Given the description of an element on the screen output the (x, y) to click on. 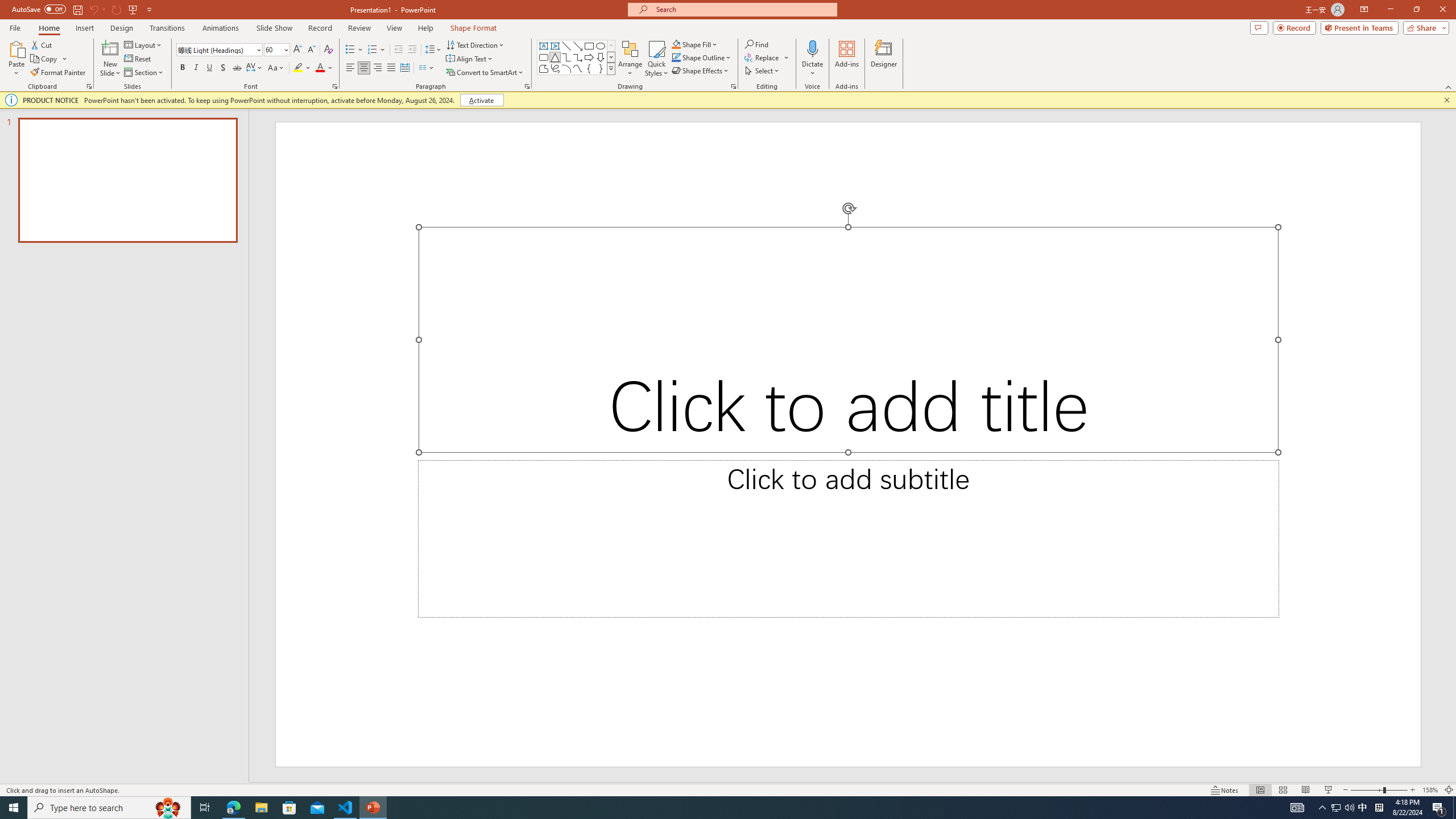
Activate (481, 100)
